Given the description of an element on the screen output the (x, y) to click on. 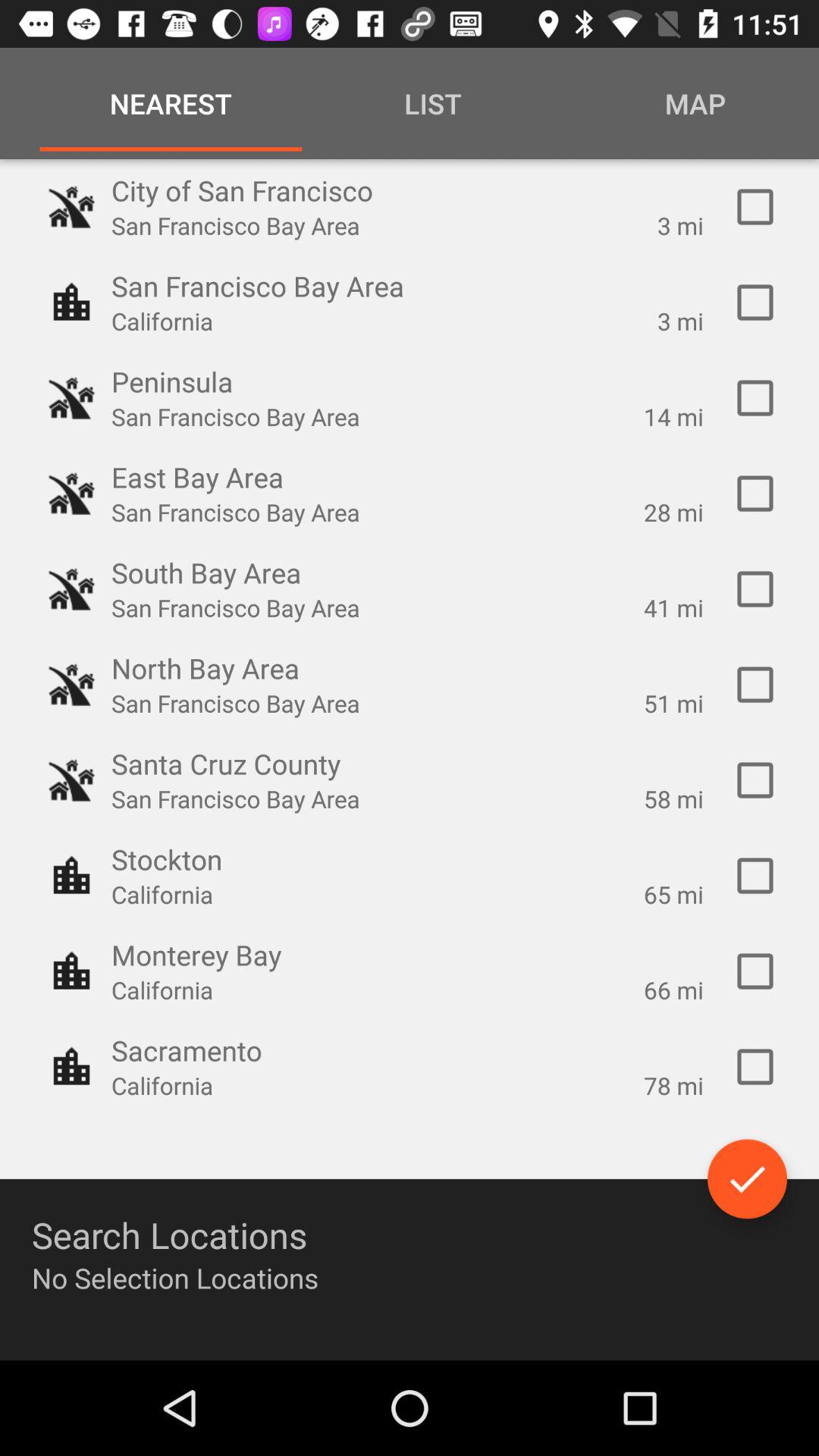
select location (755, 493)
